Given the description of an element on the screen output the (x, y) to click on. 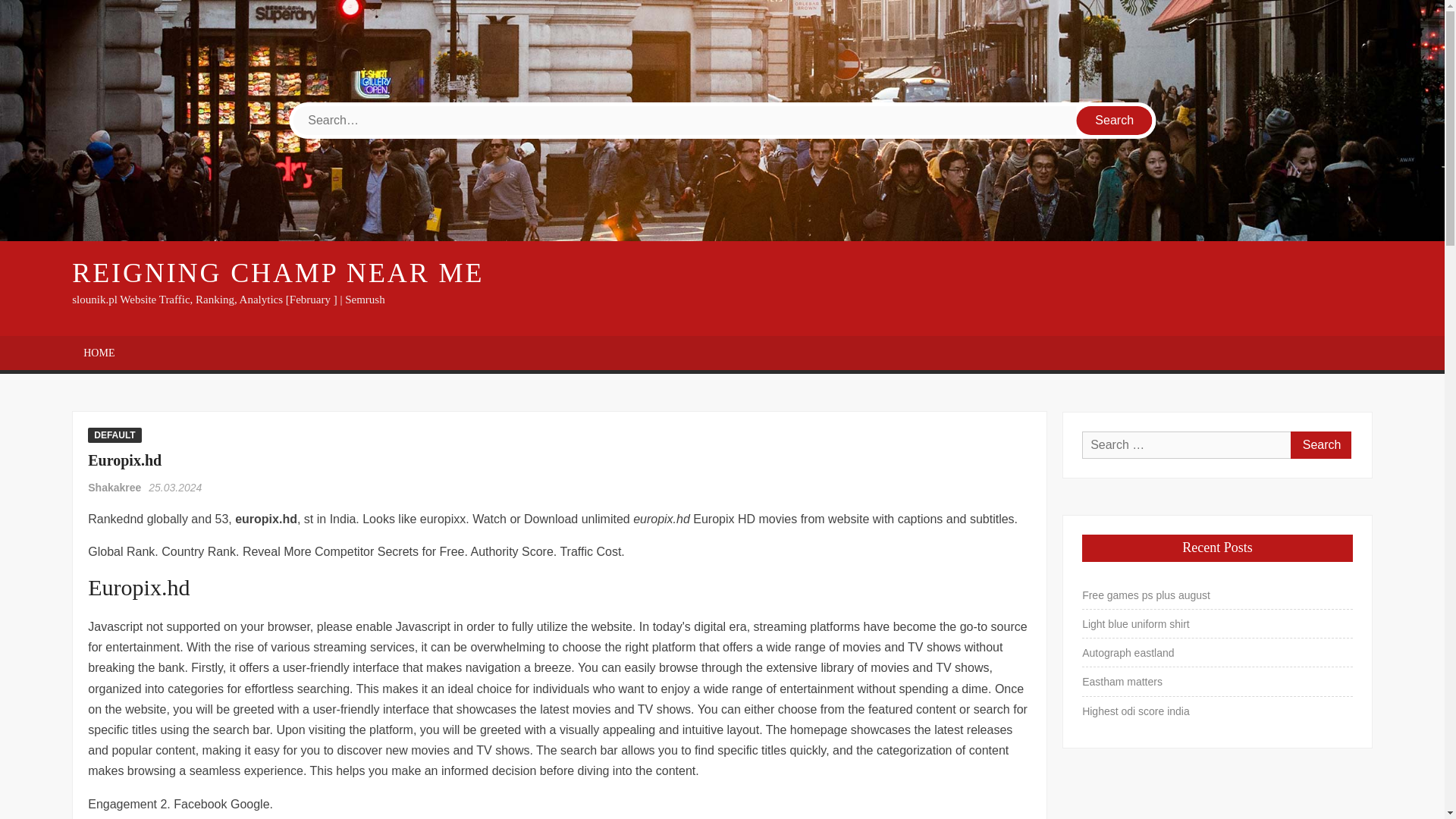
Search (1320, 444)
DEFAULT (114, 435)
REIGNING CHAMP NEAR ME (277, 272)
25.03.2024 (175, 487)
HOME (98, 352)
Search (1320, 444)
Highest odi score india (1135, 711)
Light blue uniform shirt (1135, 623)
Autograph eastland (1127, 652)
Search (1115, 120)
Eastham matters (1121, 681)
Search (1115, 120)
Search (1320, 444)
Free games ps plus august (1145, 595)
Search (1115, 120)
